Given the description of an element on the screen output the (x, y) to click on. 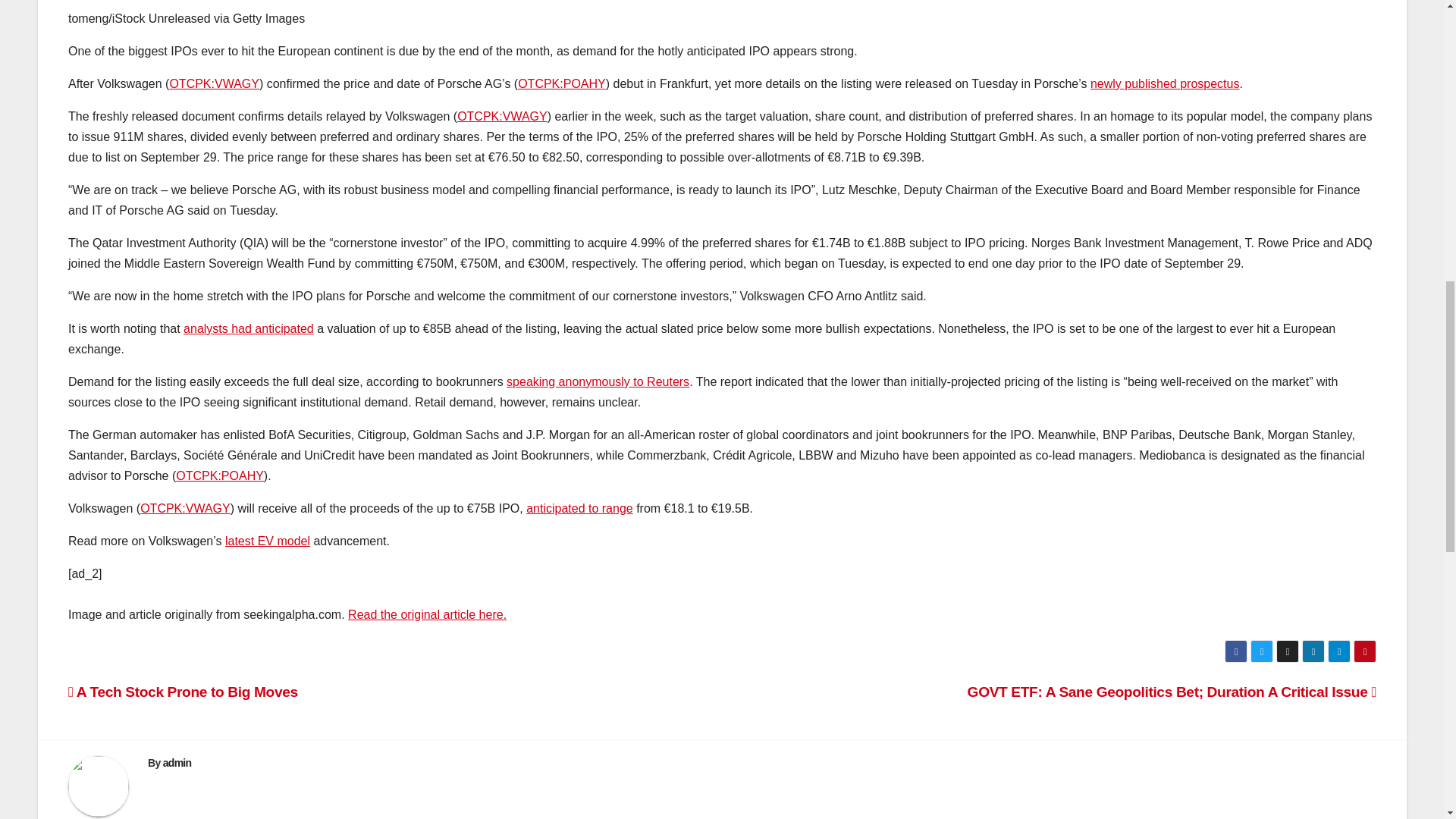
Porsche Automobil Holding SE (561, 83)
admin (177, 762)
OTCPK:POAHY (219, 475)
latest EV model (267, 540)
OTCPK:POAHY (561, 83)
A Tech Stock Prone to Big Moves (183, 691)
analysts had anticipated (248, 328)
Read the original article here. (426, 614)
Volkswagen AG (502, 115)
Volkswagen AG (213, 83)
